Given the description of an element on the screen output the (x, y) to click on. 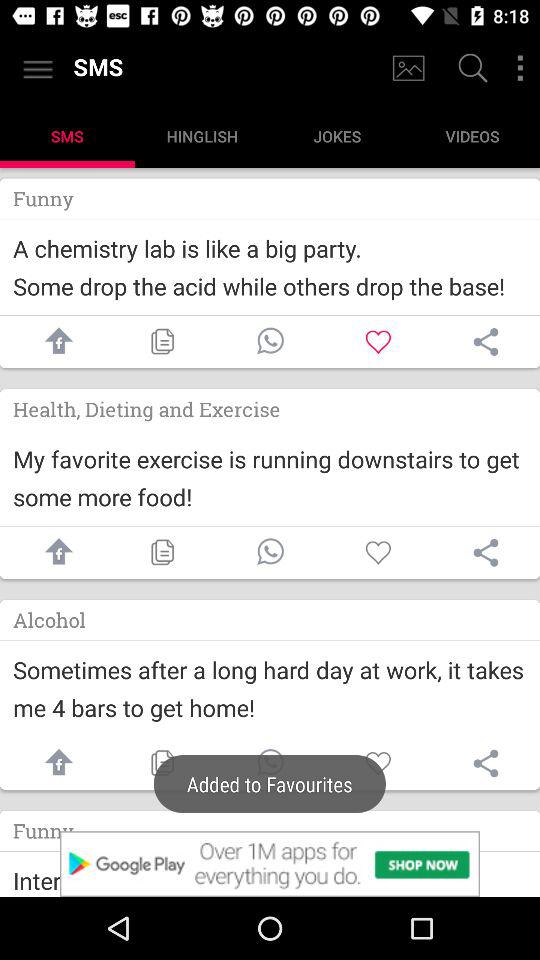
share sms on facebook (54, 552)
